Given the description of an element on the screen output the (x, y) to click on. 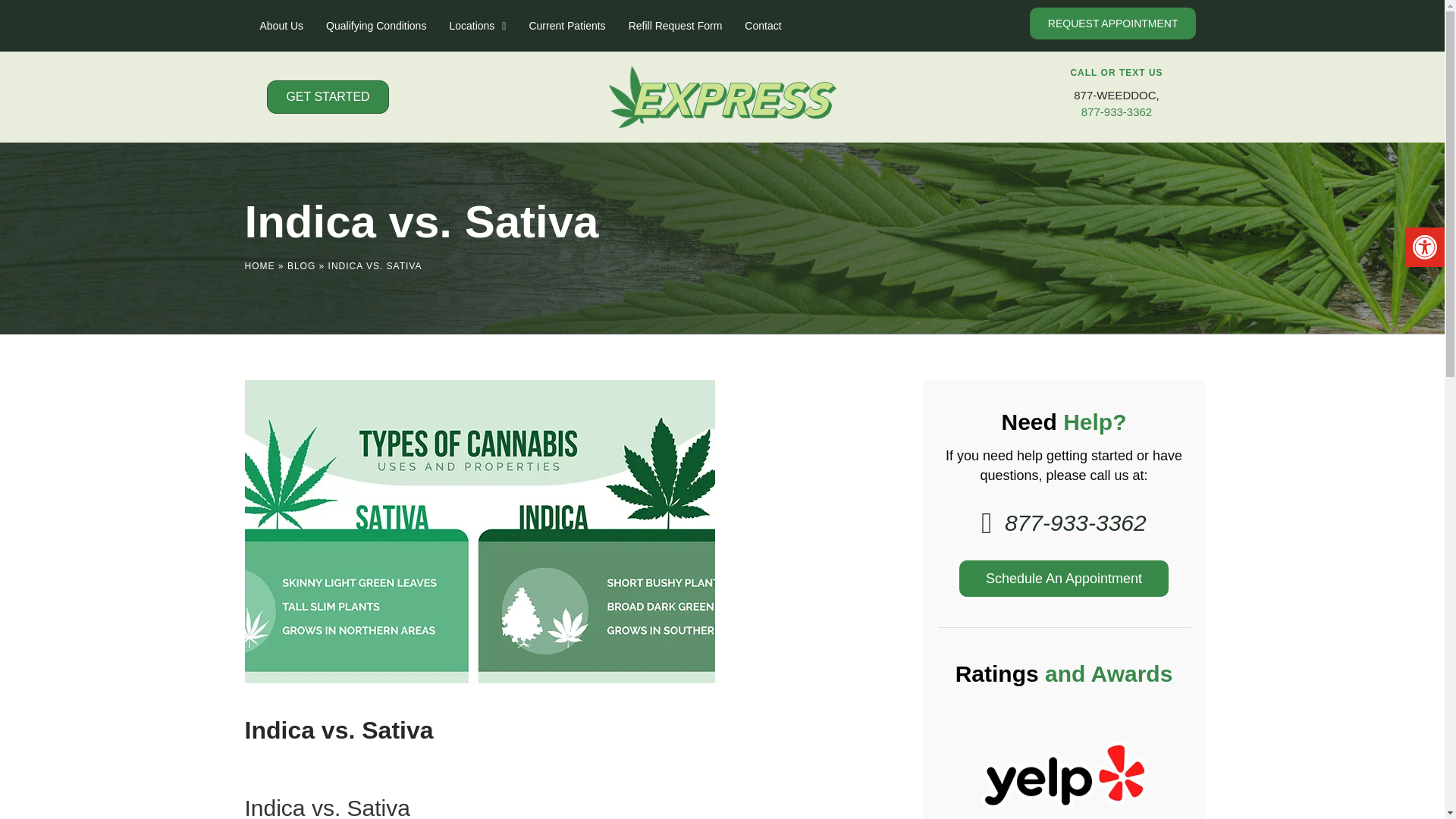
Blog (300, 266)
Home (259, 266)
yelp-logo (1063, 762)
exLogoUpdate1219 (721, 96)
Qualifying Conditions (376, 25)
Refill Request Form (675, 25)
About Us (280, 25)
Accessibility Tools (1424, 247)
Locations (476, 25)
Current Patients (566, 25)
Contact (762, 25)
